Given the description of an element on the screen output the (x, y) to click on. 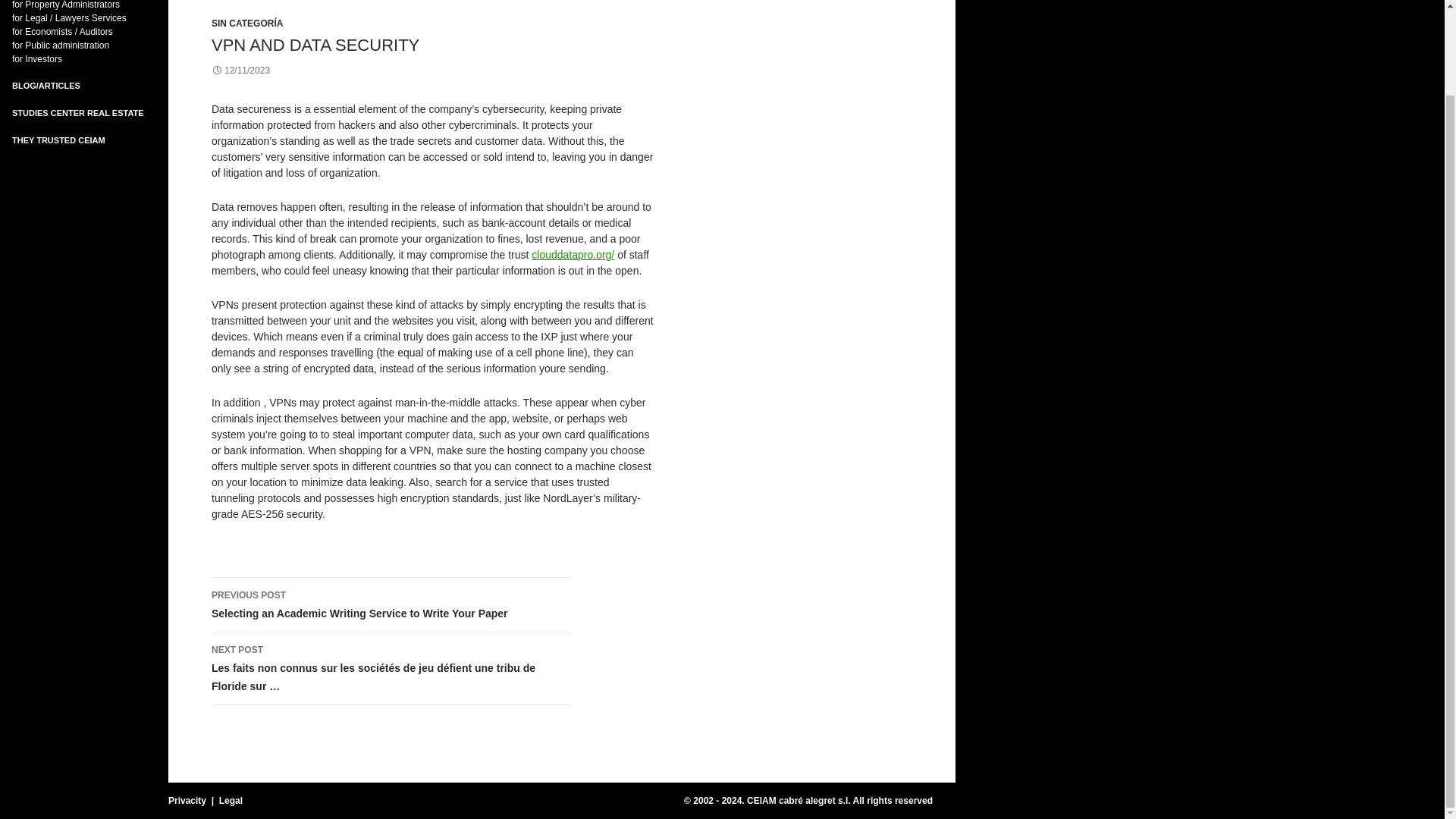
Legal (231, 800)
for Investors (36, 59)
for Public administration (60, 45)
THEY TRUSTED CEIAM (57, 139)
STUDIES CENTER REAL ESTATE (77, 112)
Privacity (187, 800)
for Property Administrators (65, 4)
